Given the description of an element on the screen output the (x, y) to click on. 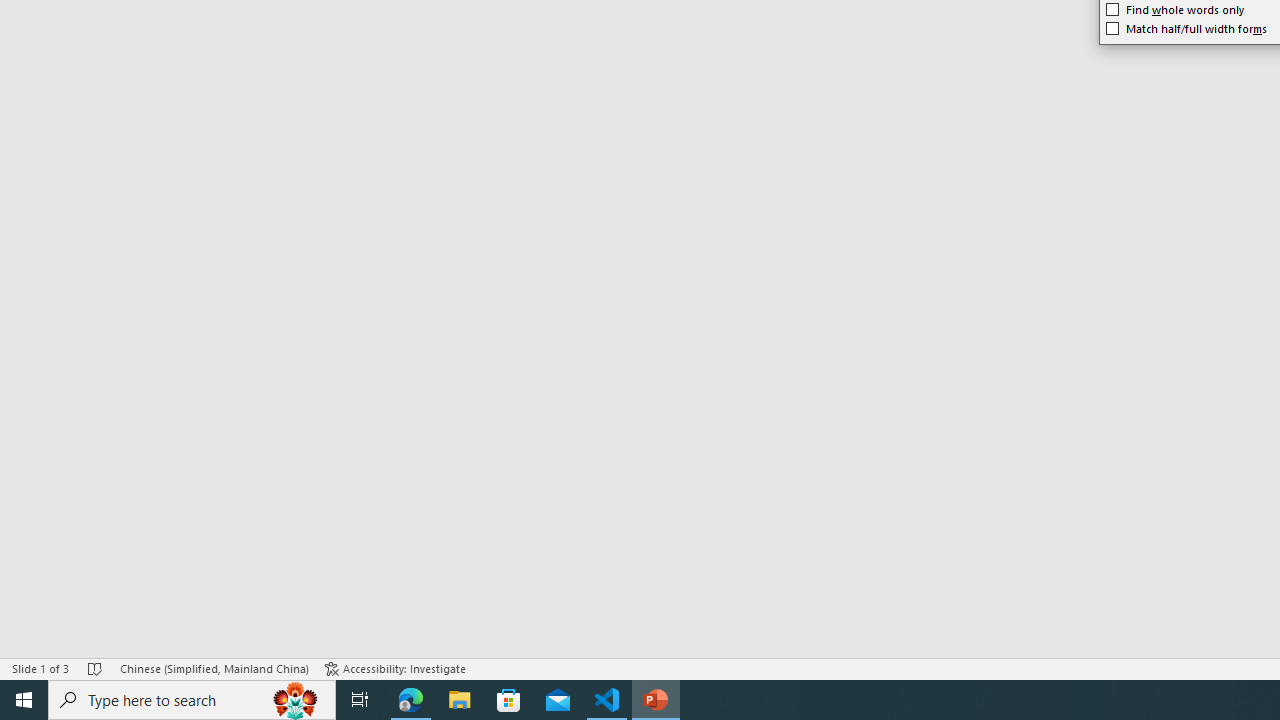
Find whole words only (1175, 10)
Match half/full width forms (1186, 28)
